Given the description of an element on the screen output the (x, y) to click on. 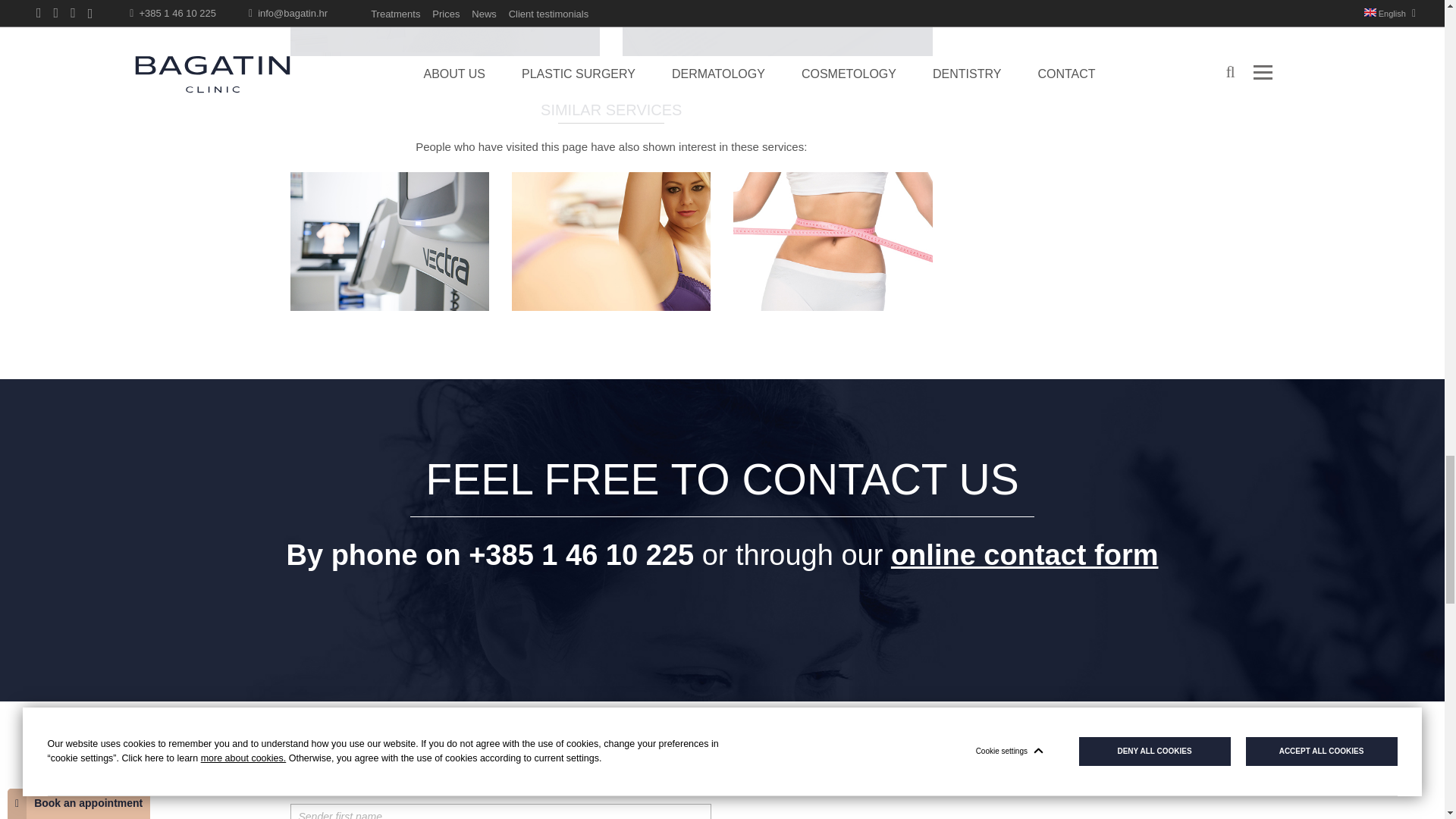
Breast lift (611, 241)
VECTRA XT 3D Breast Imaging (388, 241)
VASER Lipo ultrasound liposuction (832, 241)
